Given the description of an element on the screen output the (x, y) to click on. 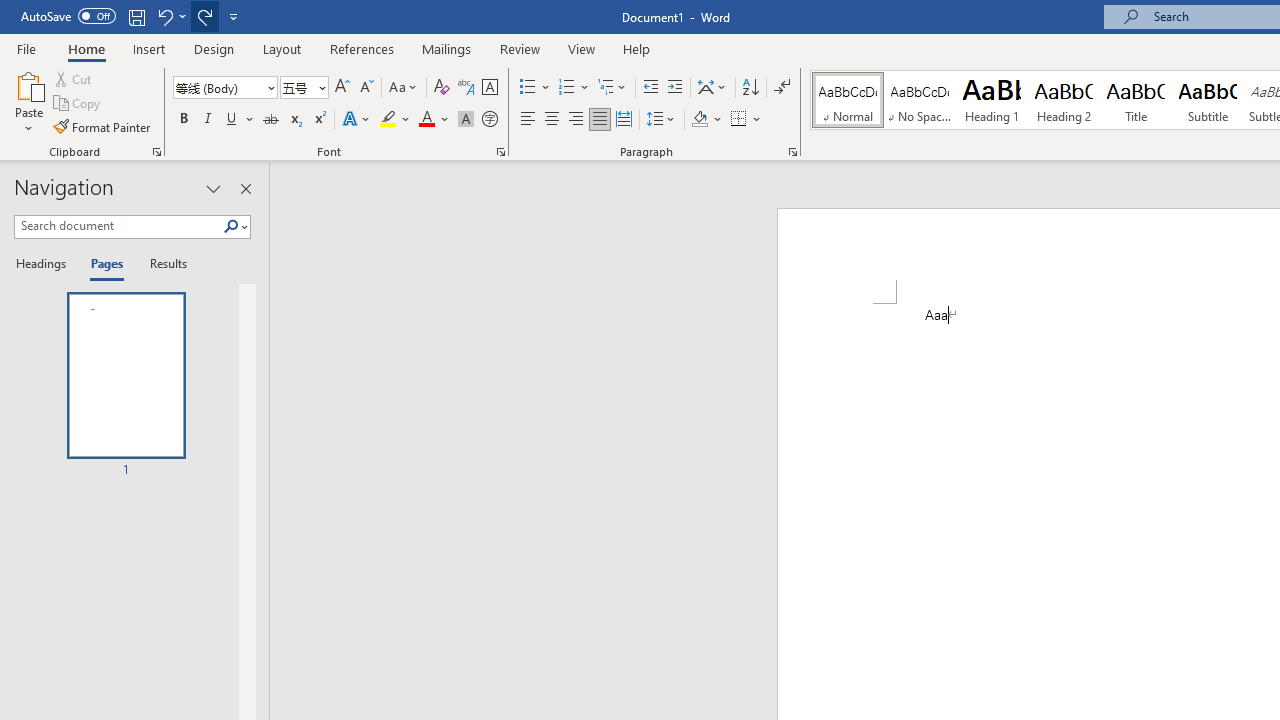
Cut (73, 78)
Font Color Red (426, 119)
Open (320, 87)
Shading RGB(0, 0, 0) (699, 119)
Phonetic Guide... (465, 87)
Format Painter (103, 126)
Text Highlight Color Yellow (388, 119)
File Tab (26, 48)
Text Effects and Typography (357, 119)
Multilevel List (613, 87)
Font (218, 87)
Justify (599, 119)
